Given the description of an element on the screen output the (x, y) to click on. 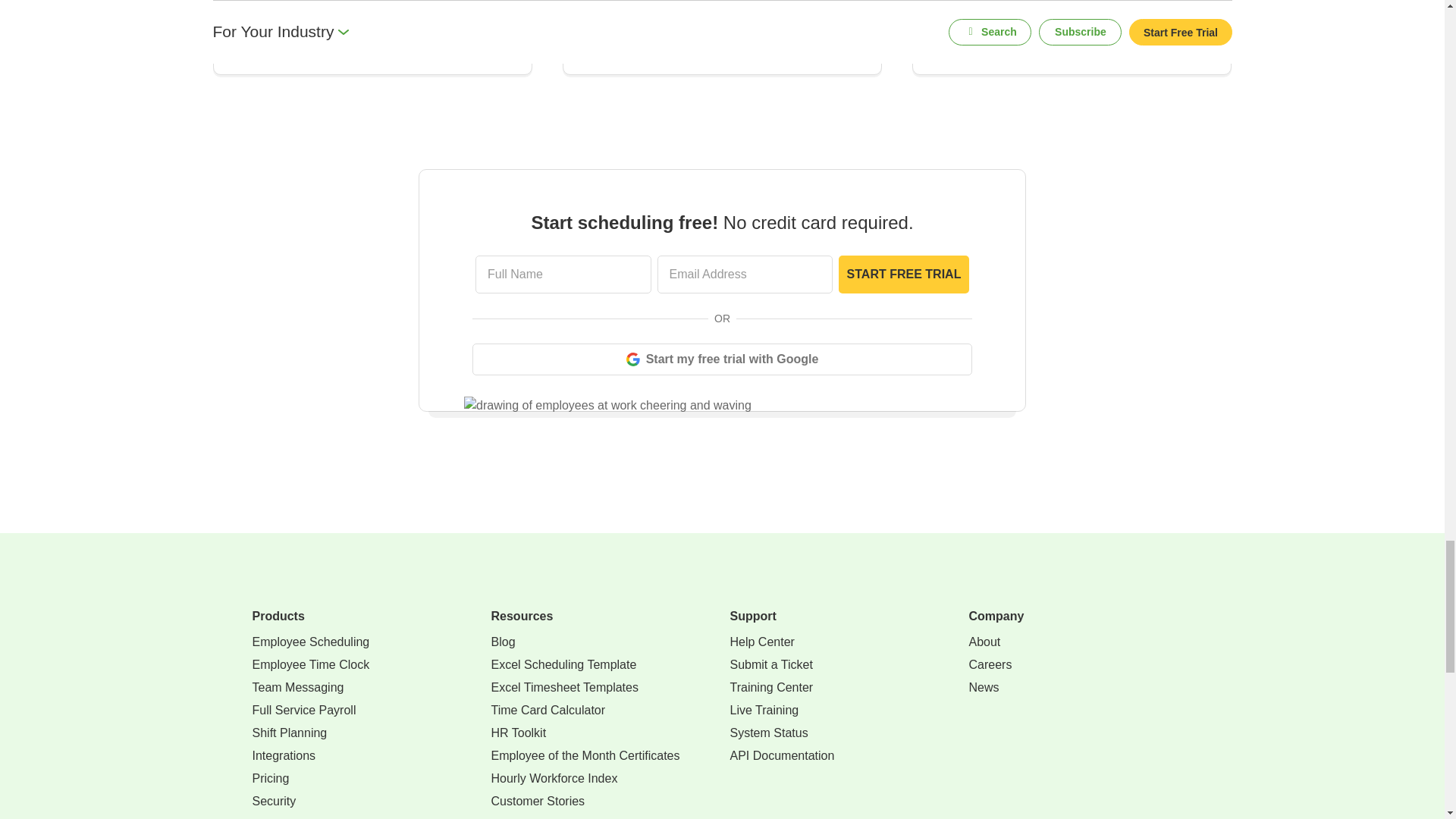
Team Messaging (297, 687)
Full Service Payroll (303, 710)
Email Address (744, 274)
Employee Time Clock (310, 664)
Integrations (283, 755)
Shift Planning (288, 732)
Employee Scheduling (310, 641)
Enable Modal (903, 274)
Pricing (269, 778)
Security (273, 801)
Full Name (563, 274)
